Given the description of an element on the screen output the (x, y) to click on. 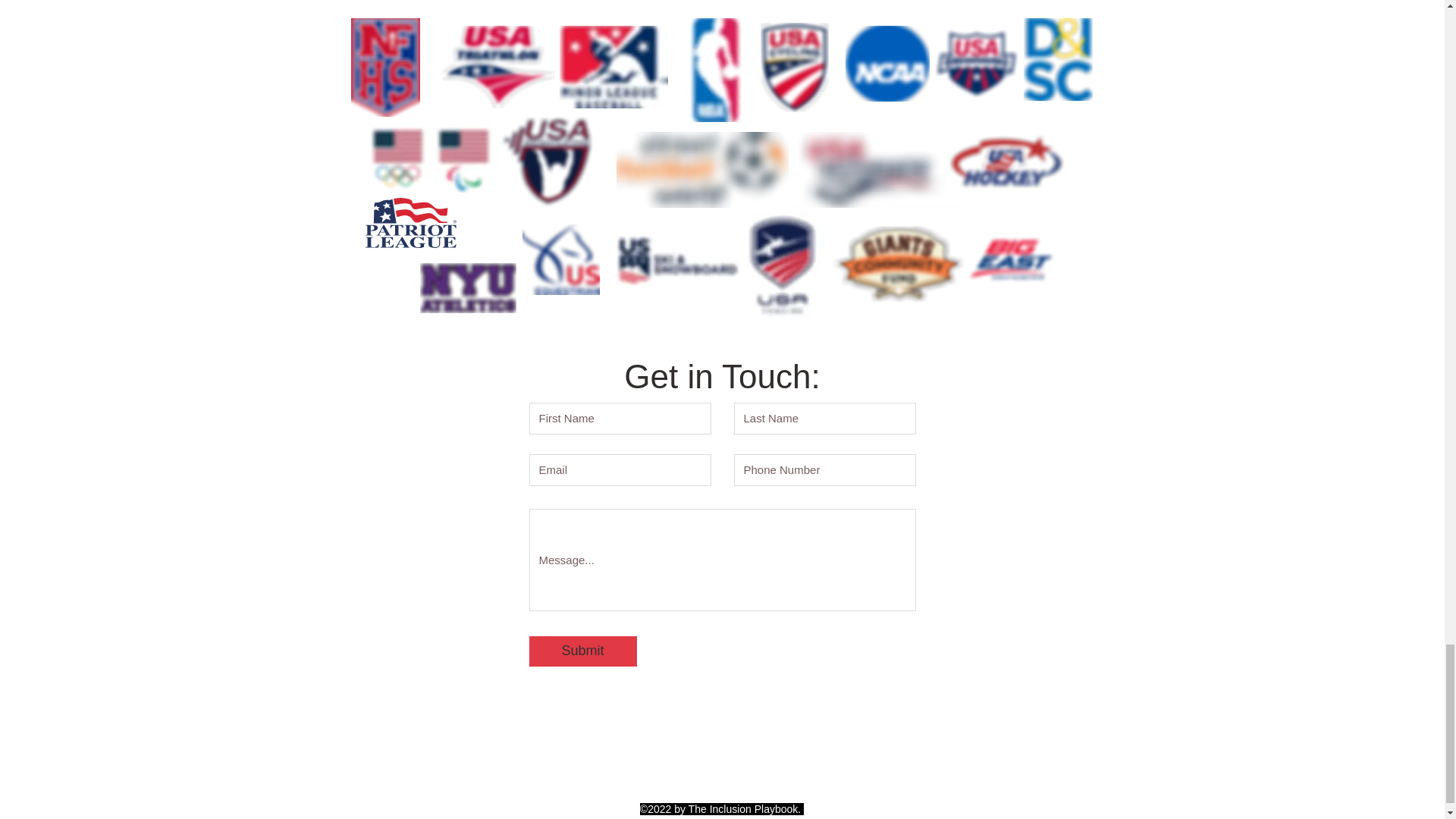
logo8.png (873, 169)
logo6.png (976, 63)
logo10.png (1005, 160)
NYU.png (468, 287)
BE.png (1011, 259)
logo2.jpg (613, 66)
logo11.png (886, 63)
logo14.png (701, 169)
logo7.png (546, 161)
logo4.jpg (432, 157)
